Given the description of an element on the screen output the (x, y) to click on. 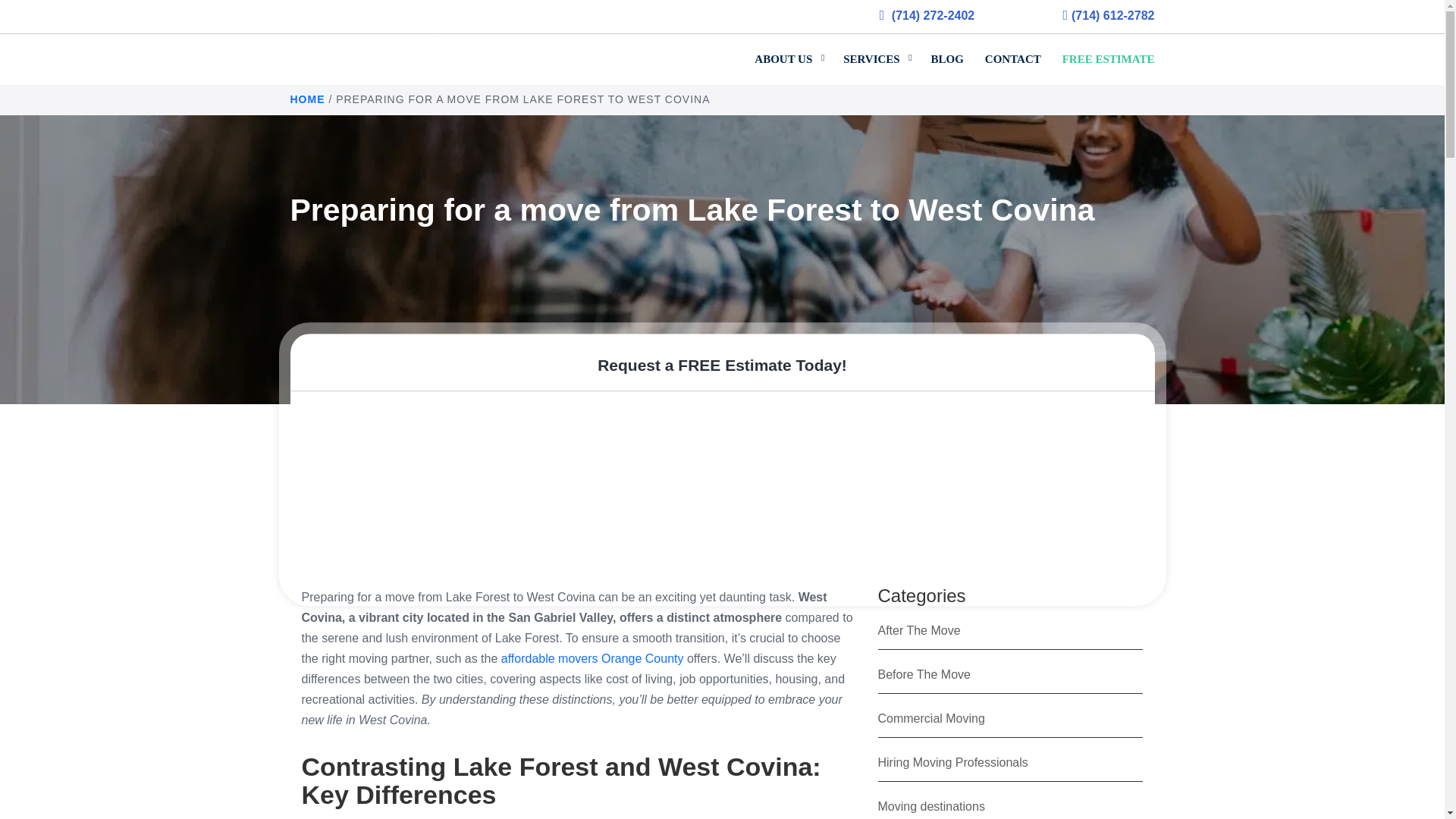
Before The Move (924, 674)
HOME (306, 99)
BLOG (946, 51)
affordable movers Orange County (592, 658)
Moving destinations (931, 806)
Submit (1011, 561)
ABOUT US (788, 51)
After The Move (918, 630)
Commercial Moving (931, 717)
SERVICES (876, 51)
Hiring Moving Professionals (952, 762)
FREE ESTIMATE (1103, 51)
CONTACT (1012, 51)
